Given the description of an element on the screen output the (x, y) to click on. 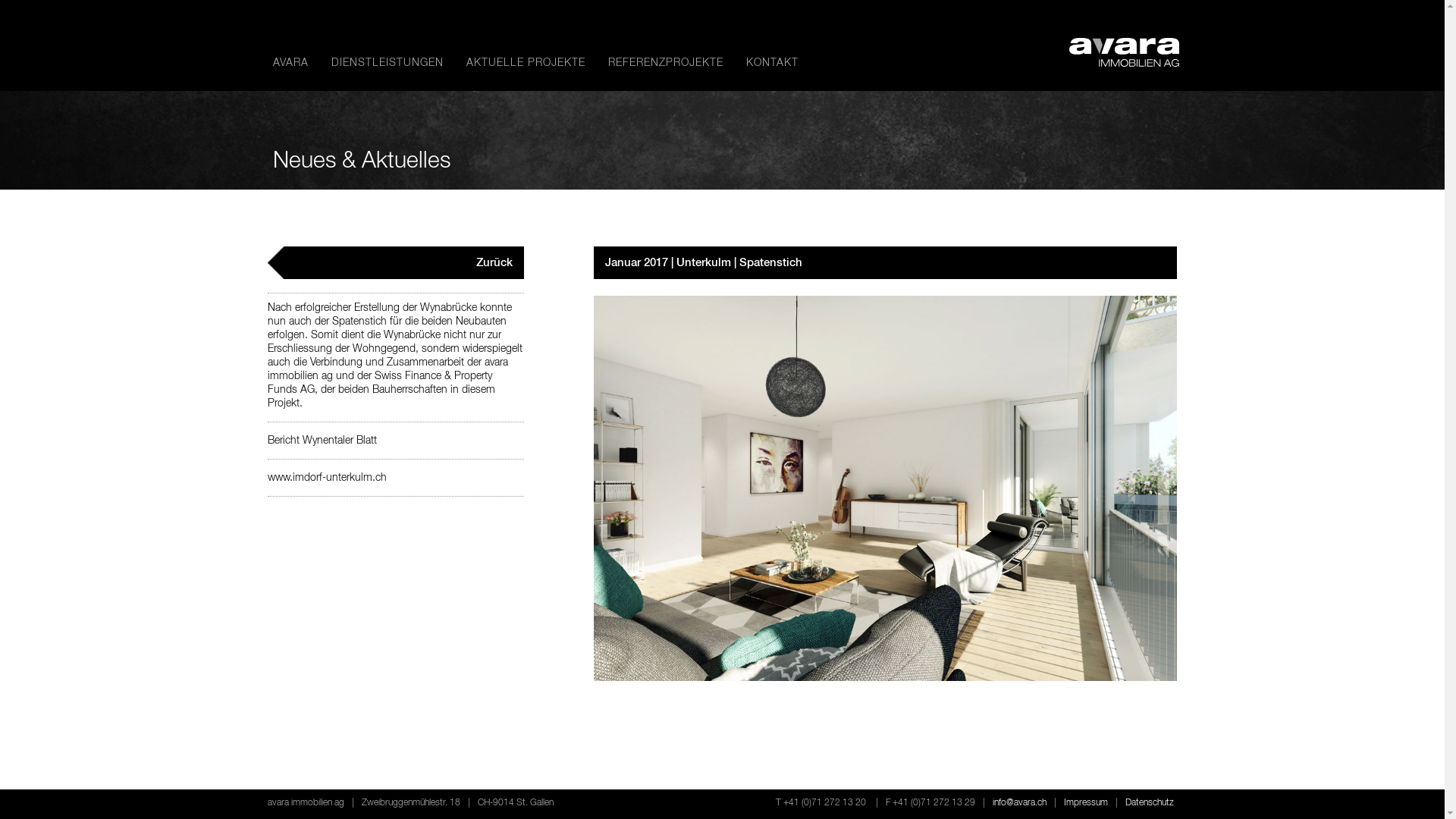
DIENSTLEISTUNGEN Element type: text (386, 62)
Bericht Wynentaler Blatt Element type: text (321, 440)
www.imdorf-unterkulm.ch Element type: text (325, 477)
Impressum Element type: text (1085, 802)
AVARA Element type: text (290, 62)
KONTAKT Element type: text (772, 62)
info@avara.ch Element type: text (1018, 802)
AKTUELLE PROJEKTE Element type: text (524, 62)
Datenschutz Element type: text (1149, 802)
REFERENZPROJEKTE Element type: text (665, 62)
